Given the description of an element on the screen output the (x, y) to click on. 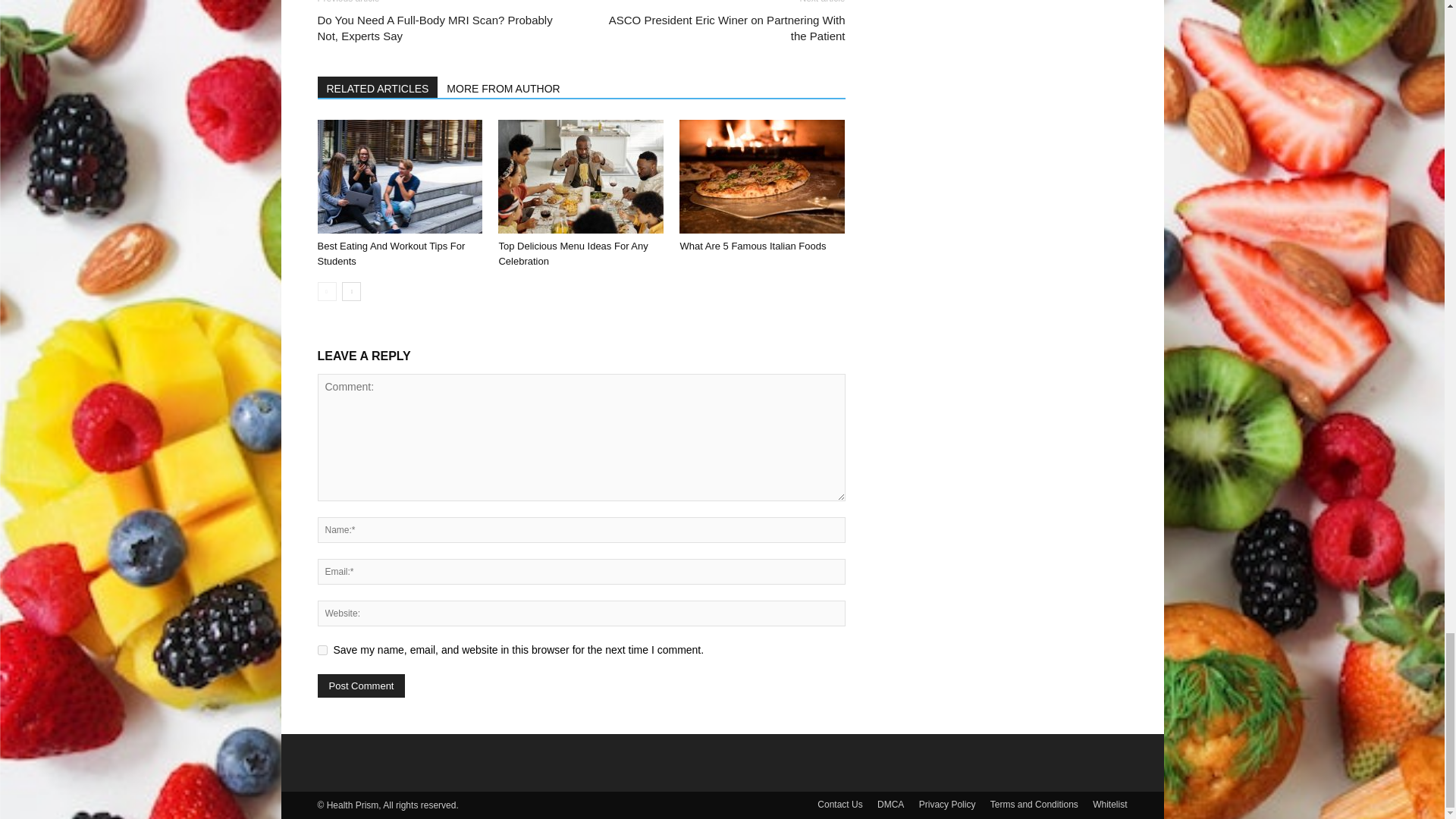
Post Comment (360, 685)
yes (321, 650)
Best Eating And Workout Tips For Students (399, 176)
Best Eating And Workout Tips For Students (390, 253)
